Given the description of an element on the screen output the (x, y) to click on. 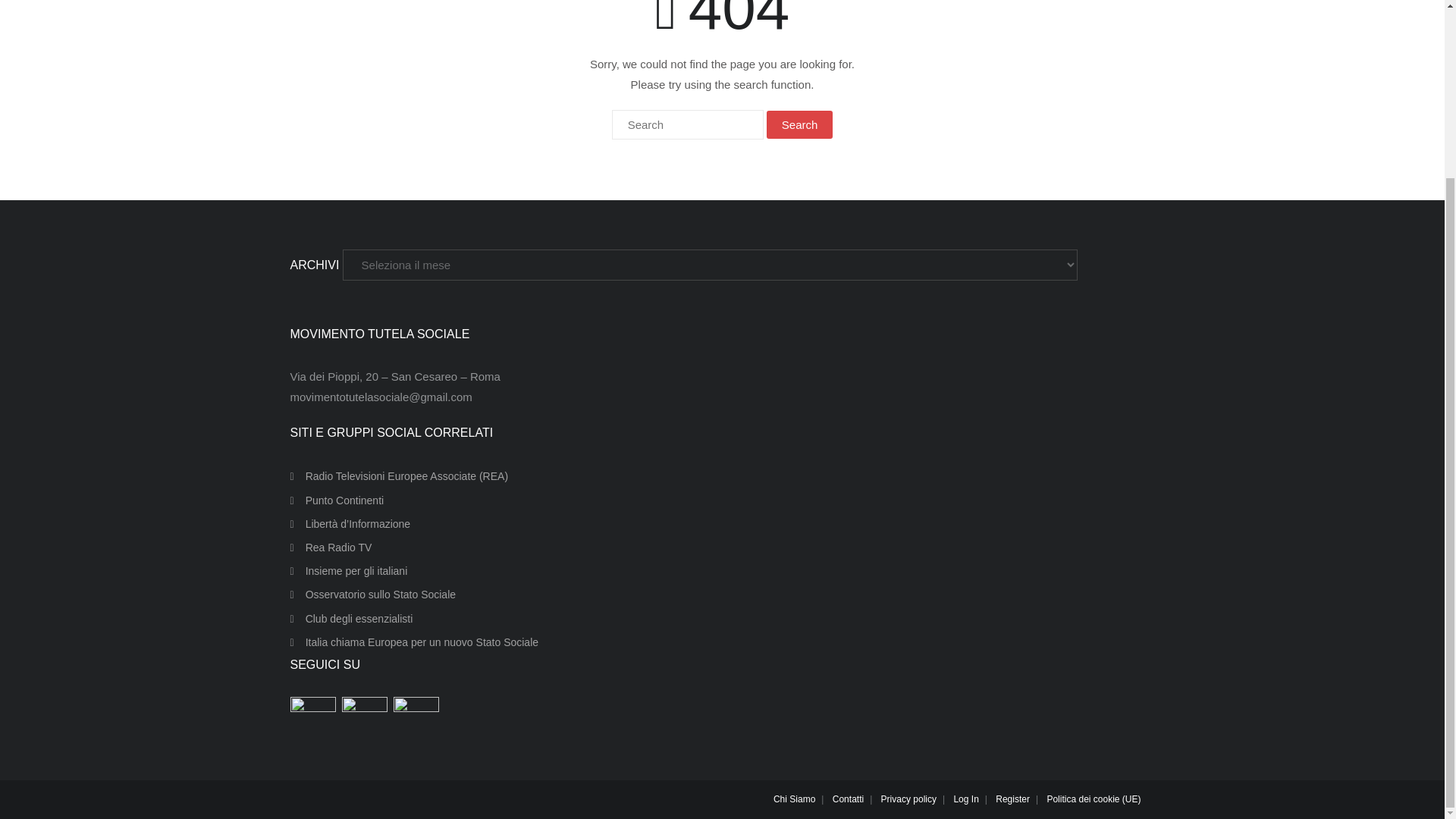
Rea Radio TV (330, 547)
Search (799, 124)
Osservatorio sullo Stato Sociale (372, 594)
Club degli essenzialisti (350, 619)
Insieme per gli italiani (348, 571)
Search (799, 124)
Punto Continenti (336, 500)
Search (799, 124)
